Given the description of an element on the screen output the (x, y) to click on. 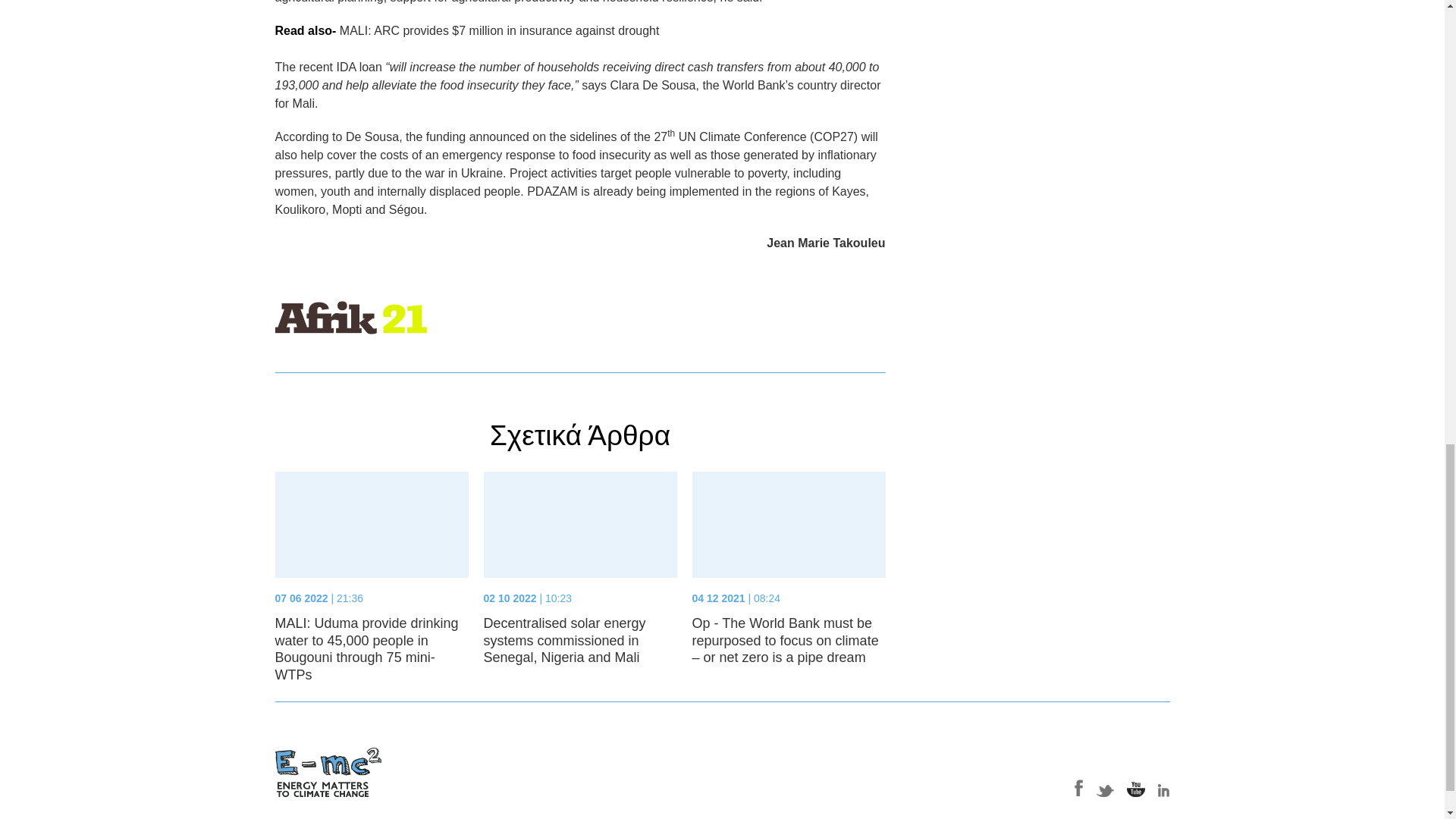
Follow us on Youtube (1135, 787)
Follow us on Twitter (1105, 787)
